Given the description of an element on the screen output the (x, y) to click on. 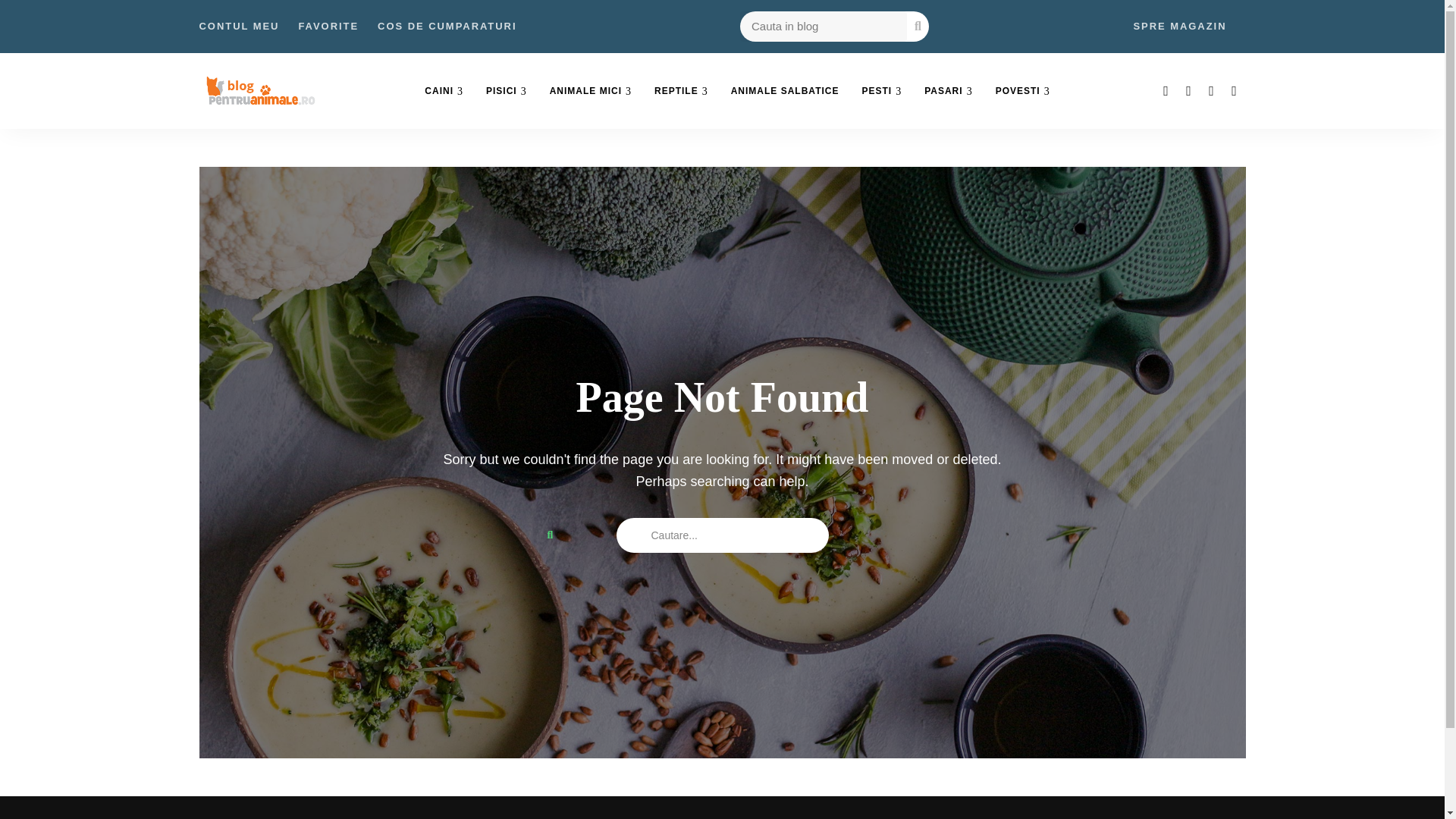
ANIMALE SALBATICE (784, 90)
FAVORITE (328, 26)
PASARI (948, 90)
POVESTI (1022, 90)
COS DE CUMPARATURI (446, 26)
REPTILE (681, 90)
SPRE MAGAZIN (1178, 26)
ANIMALE MICI (590, 90)
CONTUL MEU (238, 26)
